Given the description of an element on the screen output the (x, y) to click on. 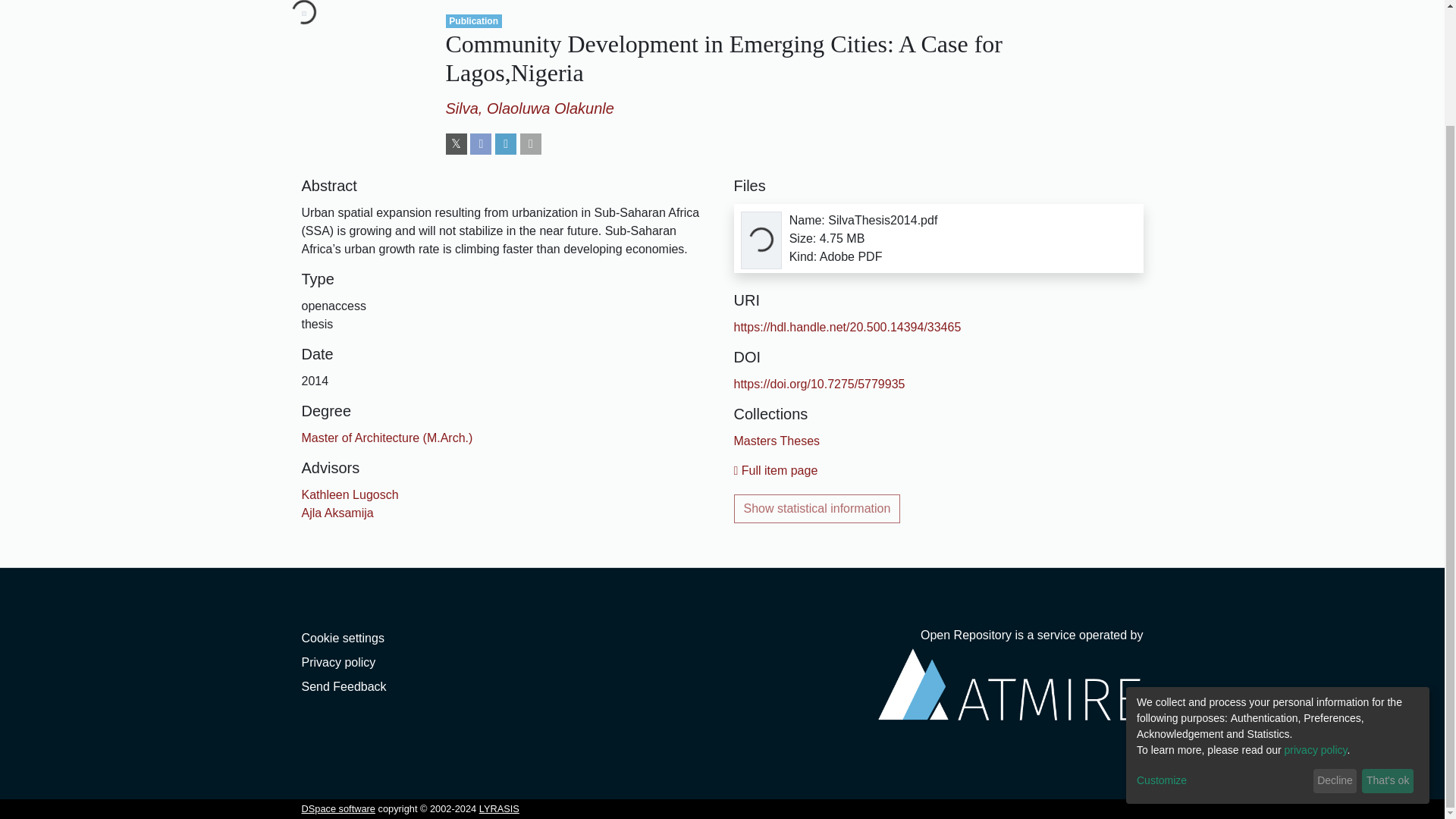
Ajla Aksamija (337, 512)
Privacy policy (338, 662)
Full item page (775, 470)
Kathleen Lugosch (349, 494)
Masters Theses (777, 440)
DSpace software (338, 808)
Send Feedback (344, 686)
Silva, Olaoluwa Olakunle (529, 108)
Cookie settings (342, 637)
Open Repository is a service operated by (1009, 684)
Show statistical information (817, 508)
